Given the description of an element on the screen output the (x, y) to click on. 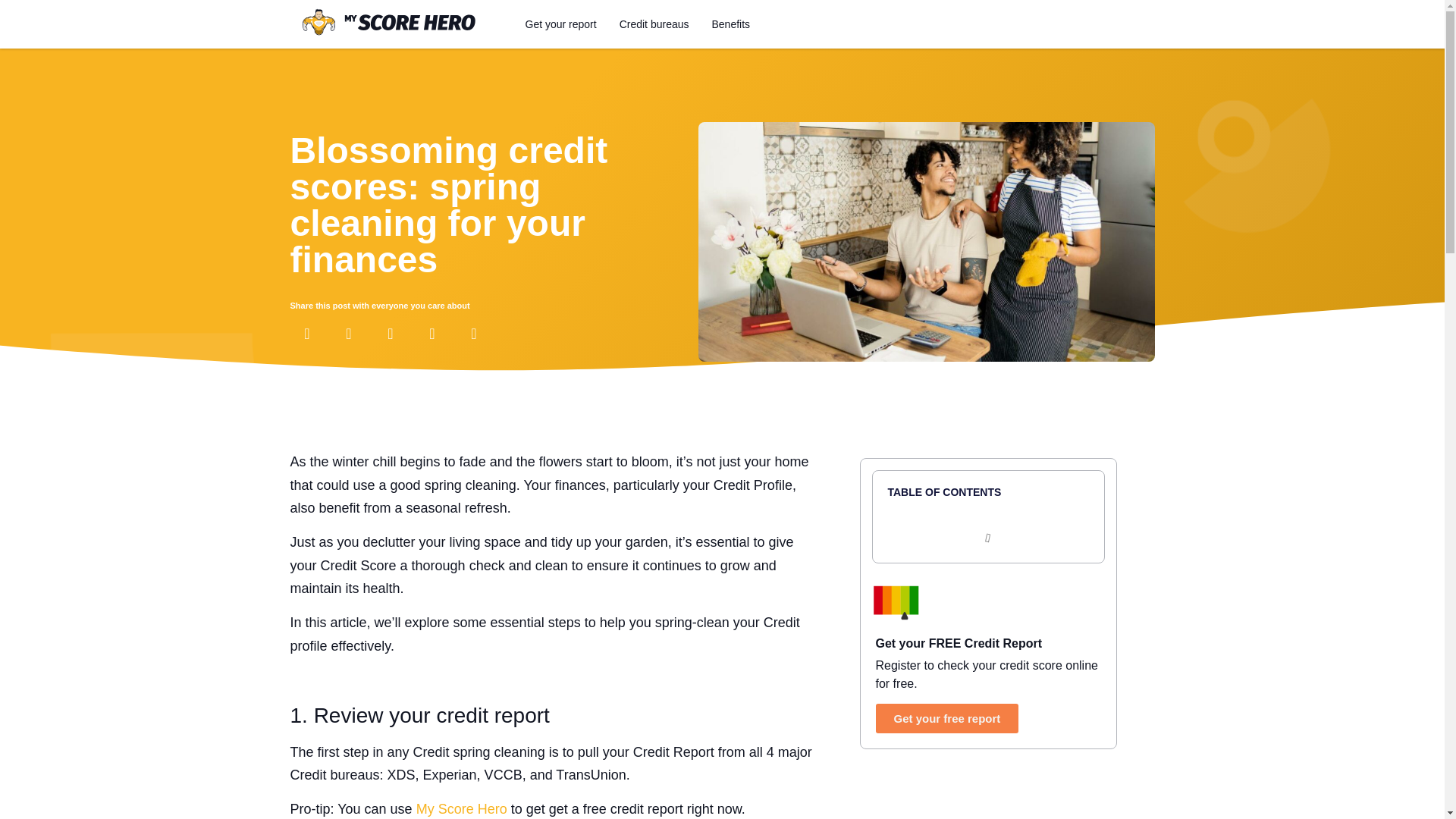
Benefits (730, 23)
My Score Hero (461, 808)
Credit bureaus (654, 23)
Get your free report (946, 718)
Get your report (560, 23)
